Given the description of an element on the screen output the (x, y) to click on. 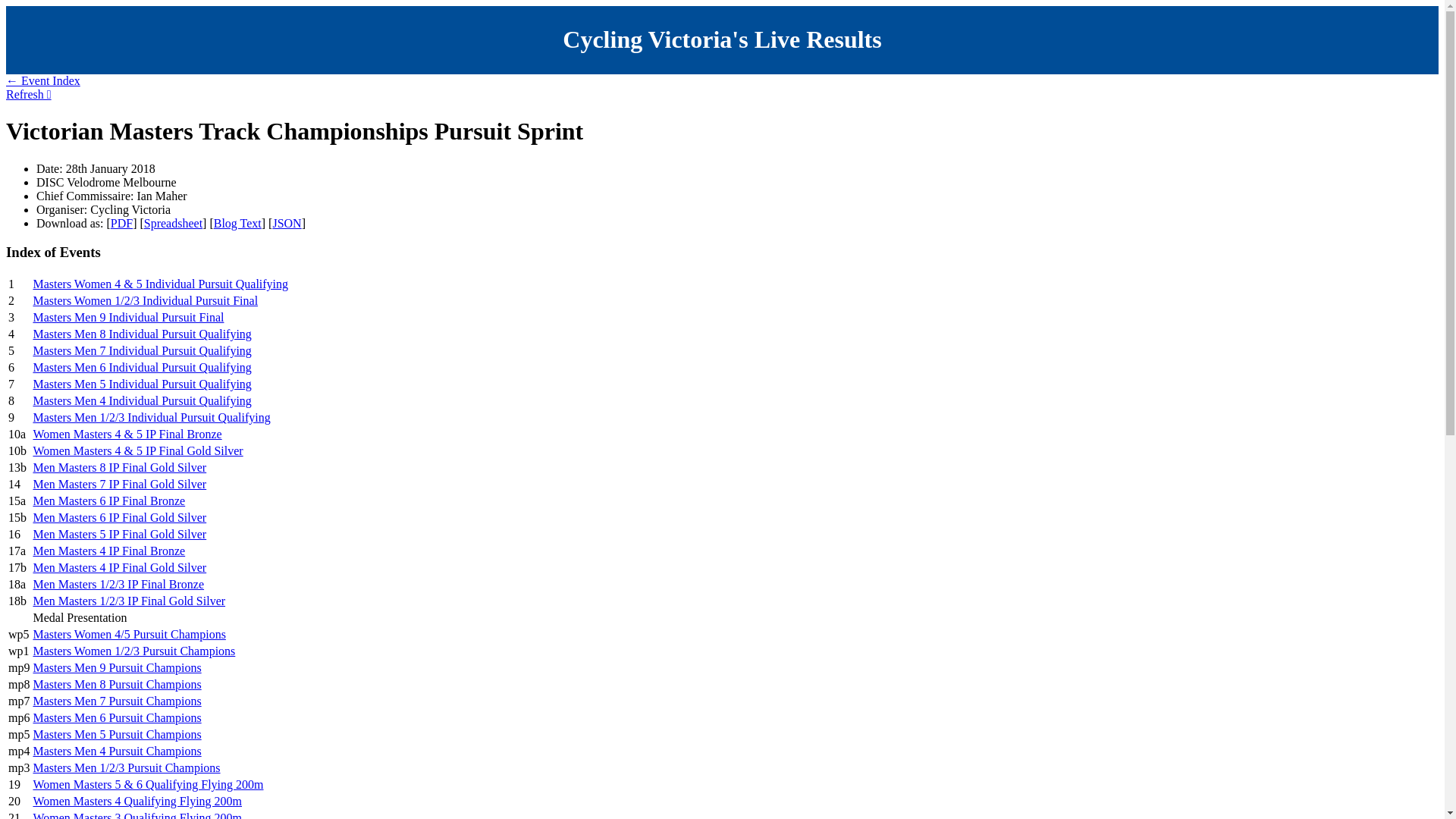
Women Masters 4 & 5 IP Final Bronze Element type: text (126, 433)
Men Masters 1/2/3 IP Final Gold Silver Element type: text (128, 600)
Masters Men 4 Individual Pursuit Qualifying Element type: text (141, 400)
Masters Men 9 Individual Pursuit Final Element type: text (127, 316)
Men Masters 1/2/3 IP Final Bronze Element type: text (117, 583)
Women Masters 5 & 6 Qualifying Flying 200m Element type: text (147, 784)
Masters Men 6 Pursuit Champions Element type: text (116, 717)
Masters Women 4/5 Pursuit Champions Element type: text (128, 633)
JSON Element type: text (286, 222)
Masters Men 4 Pursuit Champions Element type: text (116, 750)
PDF Element type: text (121, 222)
Men Masters 4 IP Final Bronze Element type: text (108, 550)
Masters Men 8 Individual Pursuit Qualifying Element type: text (141, 333)
Masters Men 8 Pursuit Champions Element type: text (116, 683)
Men Masters 6 IP Final Gold Silver Element type: text (119, 517)
Masters Men 6 Individual Pursuit Qualifying Element type: text (141, 366)
Masters Men 1/2/3 Pursuit Champions Element type: text (125, 767)
Men Masters 5 IP Final Gold Silver Element type: text (119, 533)
Masters Men 9 Pursuit Champions Element type: text (116, 667)
Masters Men 7 Individual Pursuit Qualifying Element type: text (141, 350)
Men Masters 8 IP Final Gold Silver Element type: text (119, 467)
Women Masters 4 Qualifying Flying 200m Element type: text (136, 800)
Men Masters 7 IP Final Gold Silver Element type: text (119, 483)
Masters Women 4 & 5 Individual Pursuit Qualifying Element type: text (160, 283)
Masters Men 5 Pursuit Champions Element type: text (116, 734)
Masters Women 1/2/3 Individual Pursuit Final Element type: text (144, 300)
Masters Women 1/2/3 Pursuit Champions Element type: text (133, 650)
Masters Men 7 Pursuit Champions Element type: text (116, 700)
Masters Men 1/2/3 Individual Pursuit Qualifying Element type: text (150, 417)
Men Masters 6 IP Final Bronze Element type: text (108, 500)
Men Masters 4 IP Final Gold Silver Element type: text (119, 567)
Blog Text Element type: text (237, 222)
Masters Men 5 Individual Pursuit Qualifying Element type: text (141, 383)
Women Masters 4 & 5 IP Final Gold Silver Element type: text (137, 450)
Spreadsheet Element type: text (173, 222)
